Given the description of an element on the screen output the (x, y) to click on. 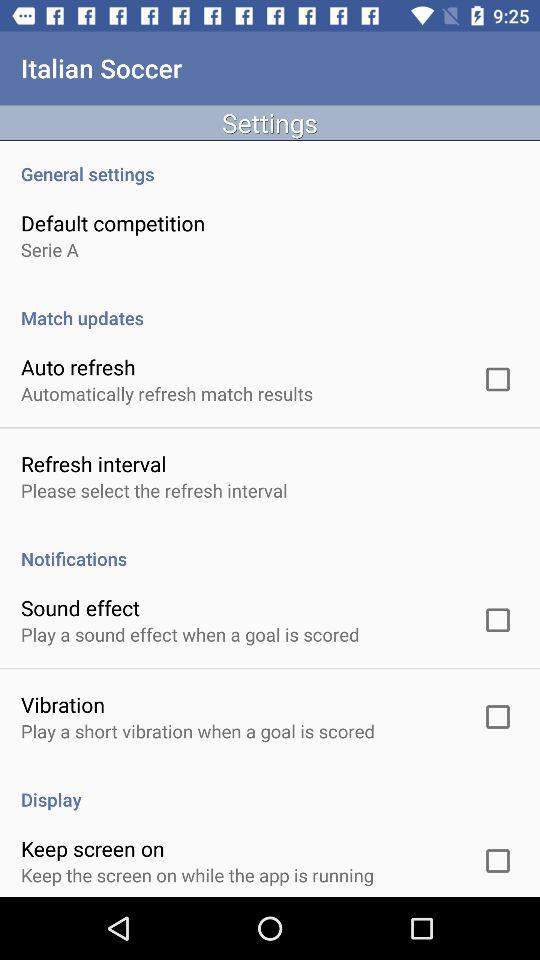
open the app below the default competition item (49, 249)
